Given the description of an element on the screen output the (x, y) to click on. 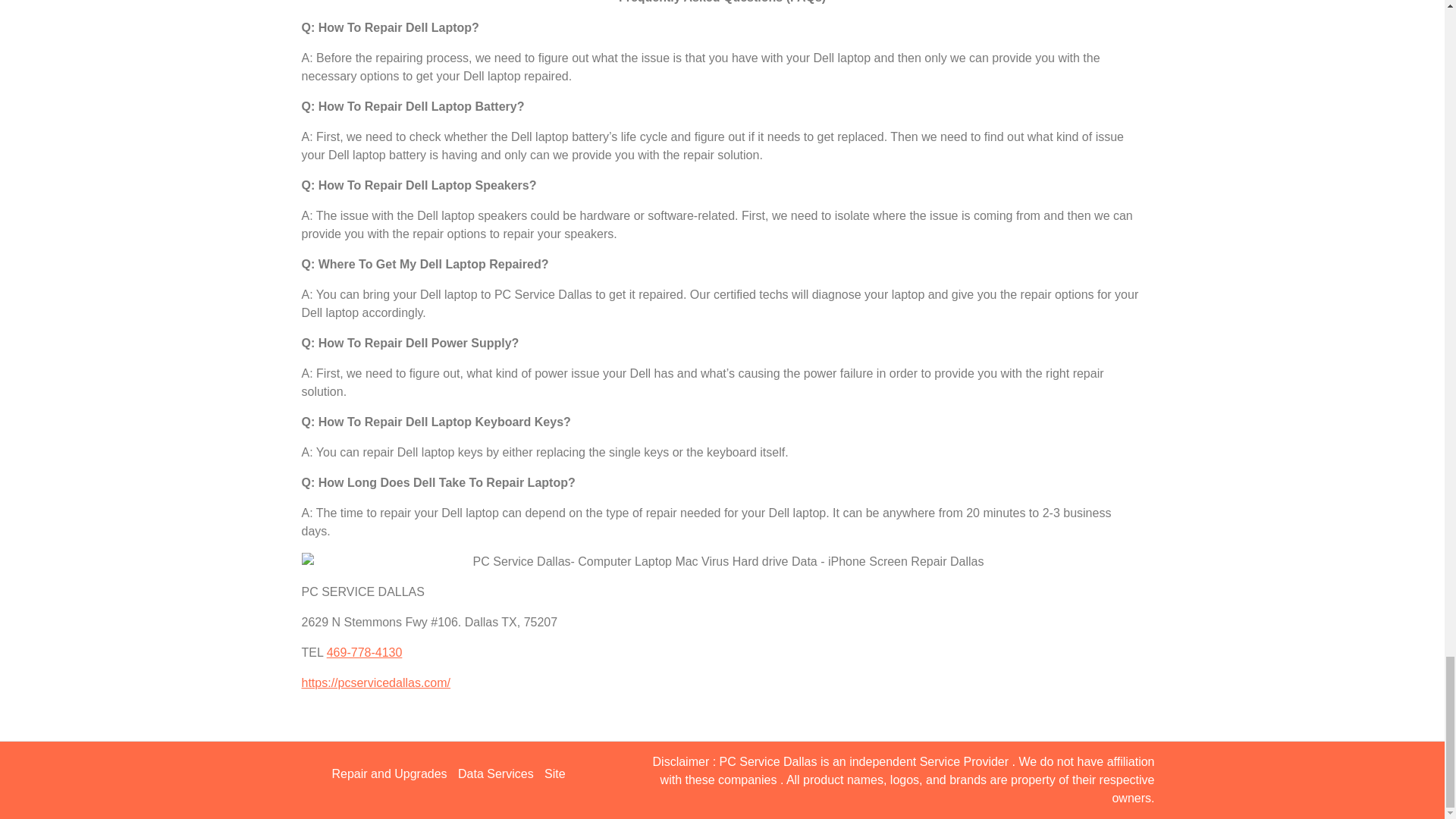
Site (555, 773)
Repair and Upgrades (388, 773)
469-778-4130 (364, 652)
Data Services (496, 773)
